Given the description of an element on the screen output the (x, y) to click on. 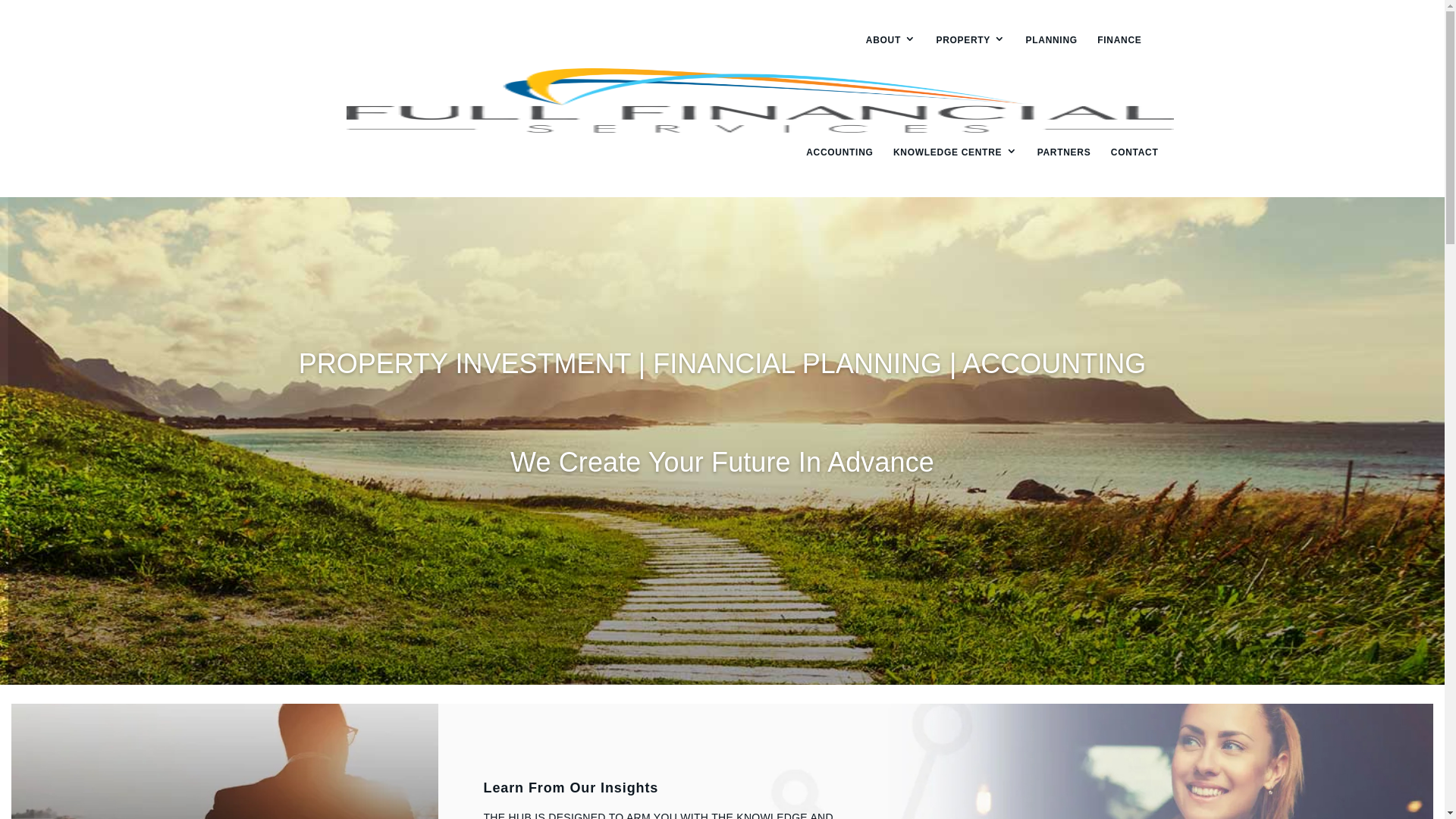
PARTNERS Element type: text (1064, 152)
ABOUT Element type: text (891, 40)
PROPERTY Element type: text (970, 40)
FINANCE Element type: text (1119, 40)
ACCOUNTING Element type: text (839, 152)
CONTACT Element type: text (1134, 152)
PLANNING Element type: text (1051, 40)
KNOWLEDGE CENTRE Element type: text (954, 152)
